Given the description of an element on the screen output the (x, y) to click on. 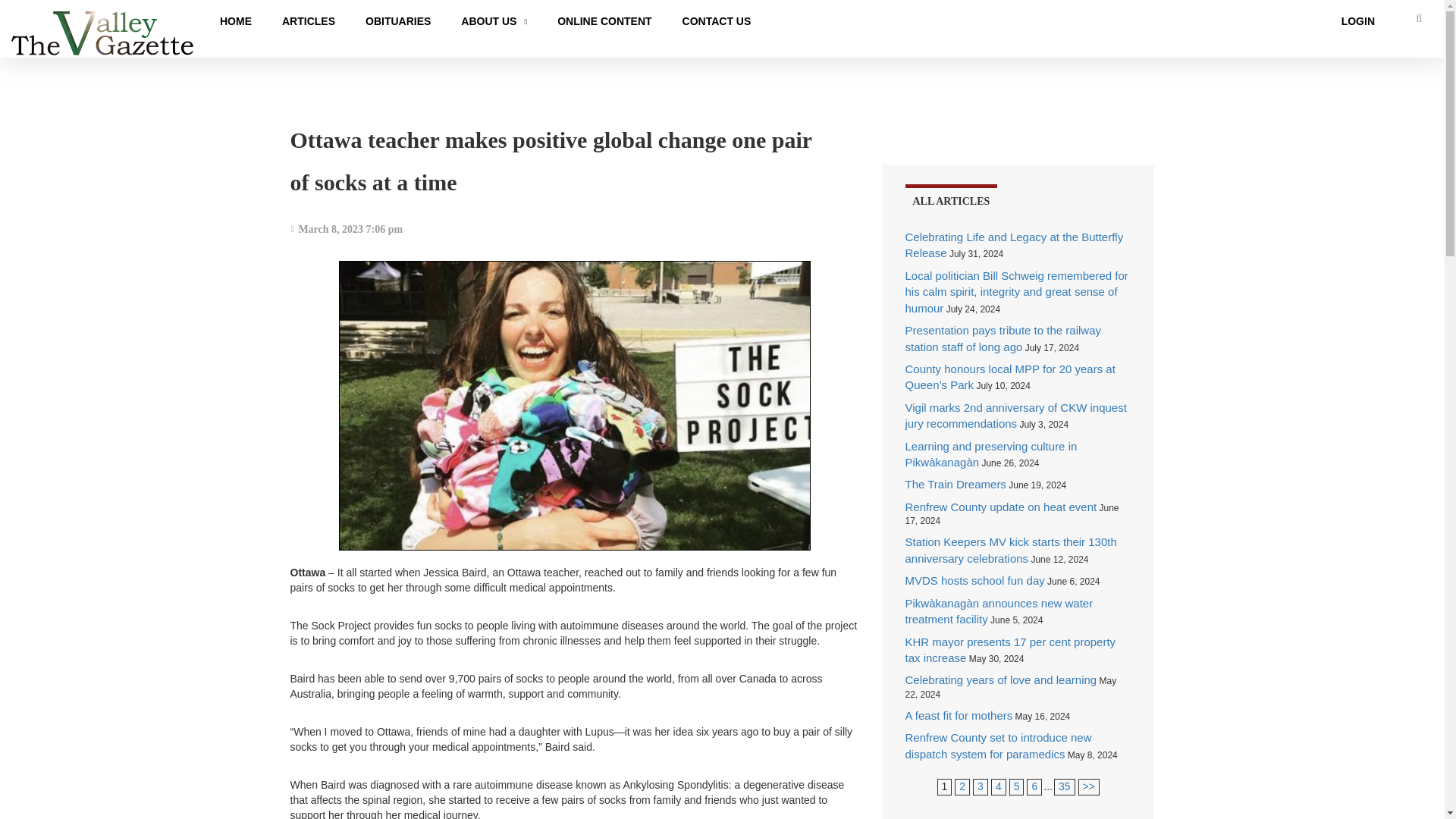
LOGIN (1358, 21)
Celebrating Life and Legacy at the Butterfly Release (1014, 244)
OBITUARIES (397, 21)
CONTACT US (716, 21)
The Valley Gazette -  (102, 33)
ARTICLES (308, 21)
ONLINE CONTENT (603, 21)
2 (1088, 786)
March 8, 2023 7:06 pm (347, 229)
ABOUT US (493, 21)
HOME (235, 21)
35 (1064, 786)
